Given the description of an element on the screen output the (x, y) to click on. 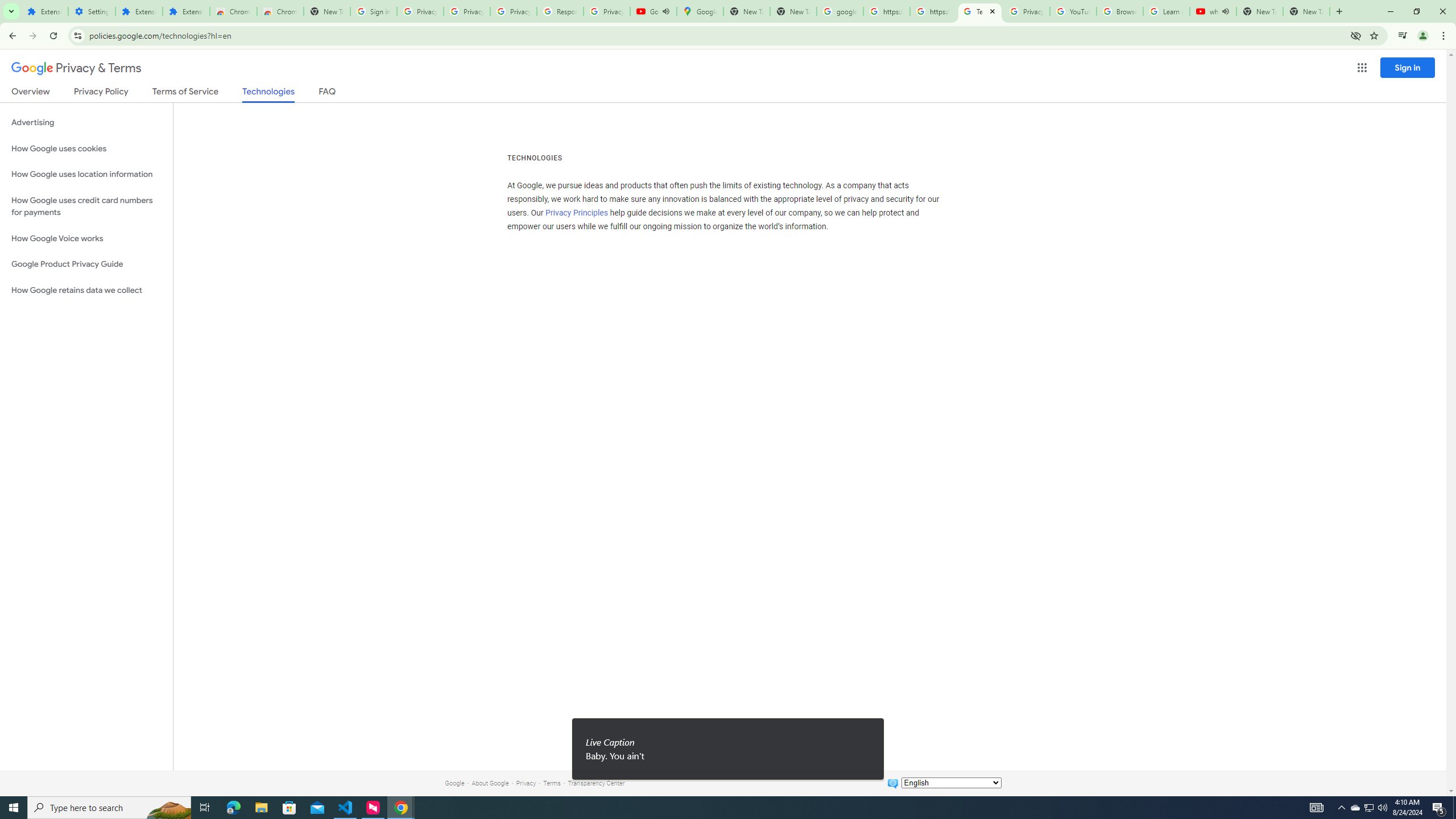
Google Maps (699, 11)
How Google uses cookies (86, 148)
Advertising (86, 122)
How Google Voice works (86, 238)
About Google (490, 783)
Extensions (44, 11)
Change language: (951, 782)
